Given the description of an element on the screen output the (x, y) to click on. 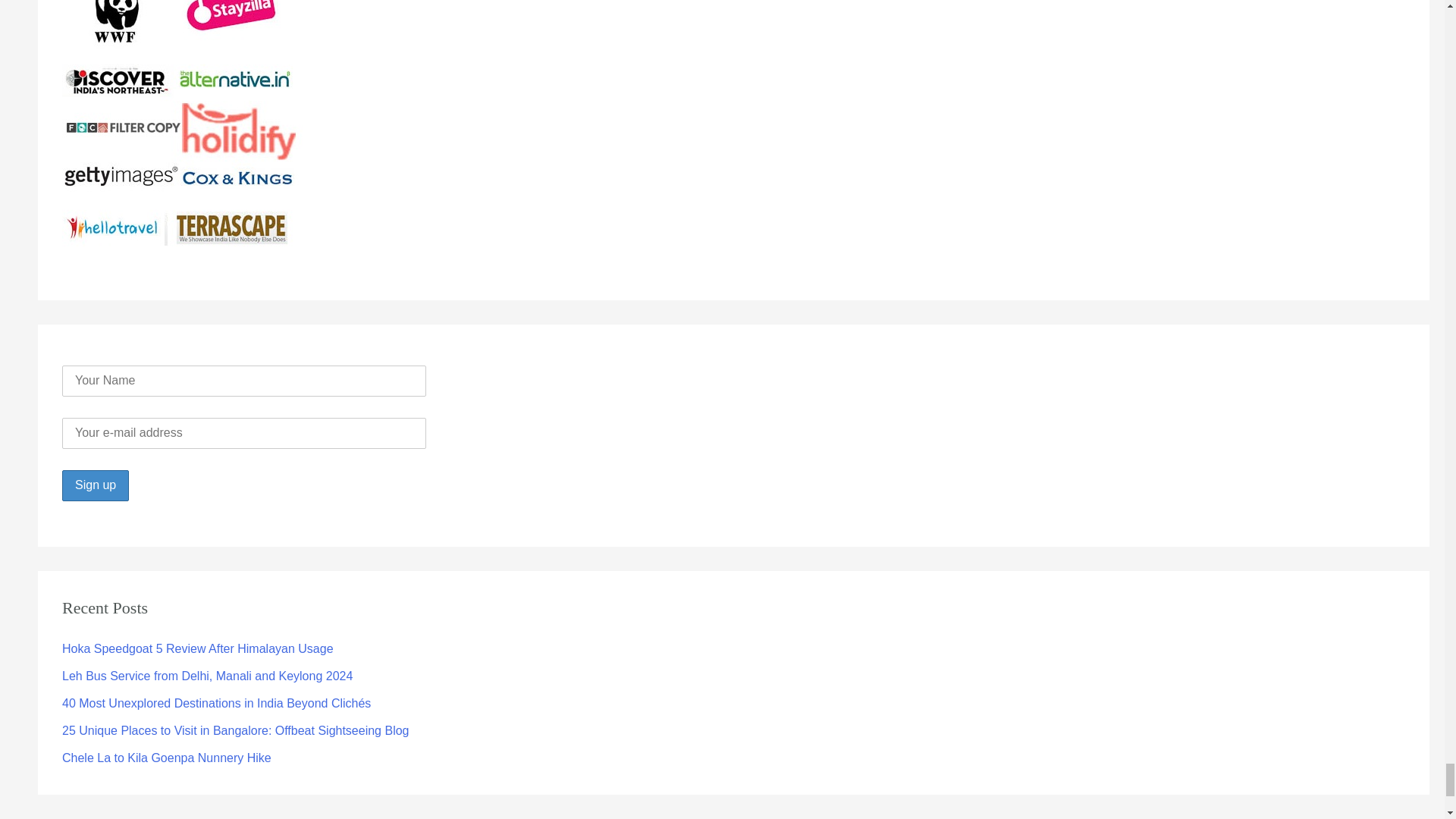
Sign up (95, 485)
